Given the description of an element on the screen output the (x, y) to click on. 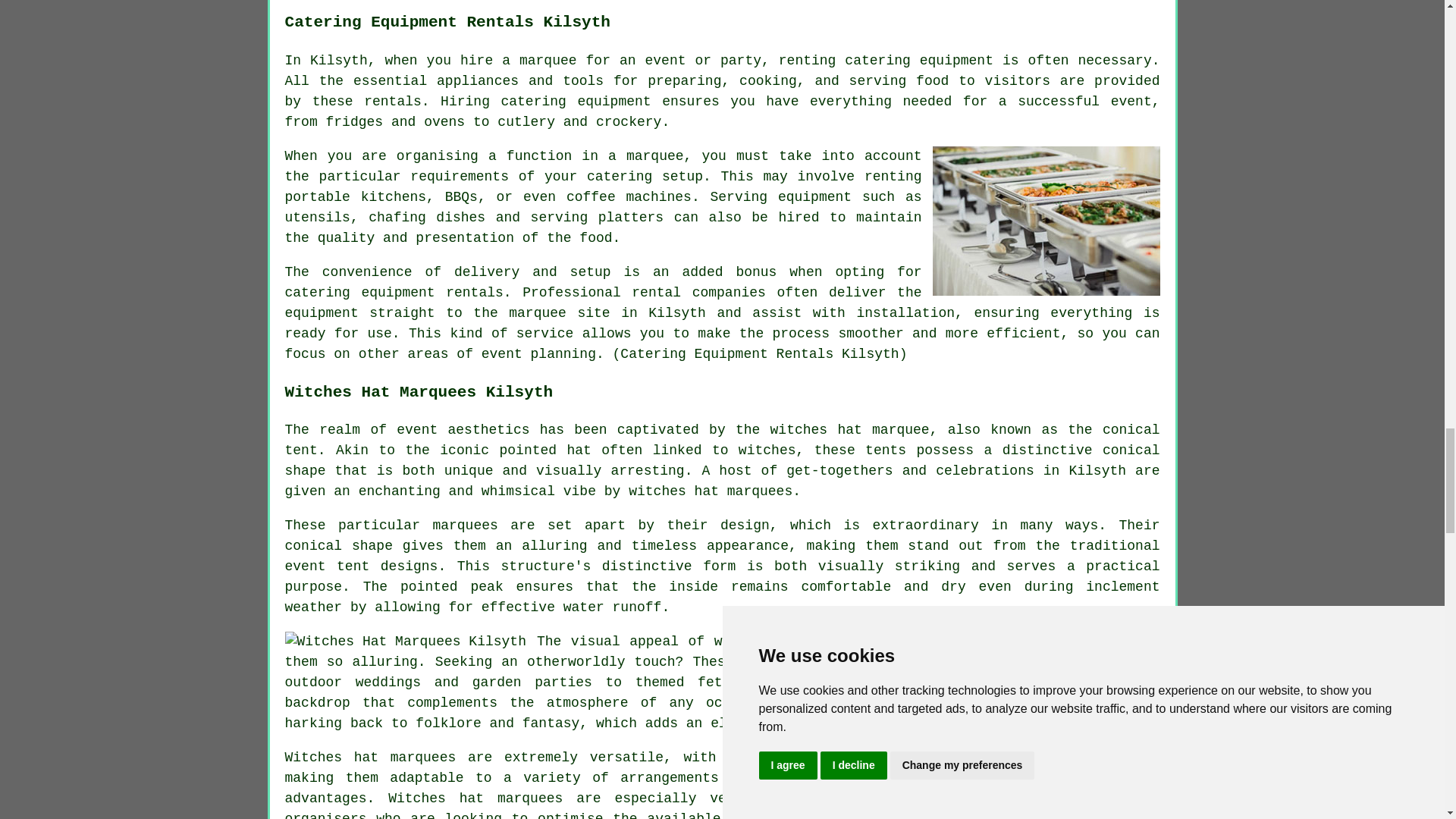
a marquee (646, 155)
marquee (547, 60)
marquee site (559, 313)
Catering Equipment Rentals Kilsyth (1046, 220)
